Given the description of an element on the screen output the (x, y) to click on. 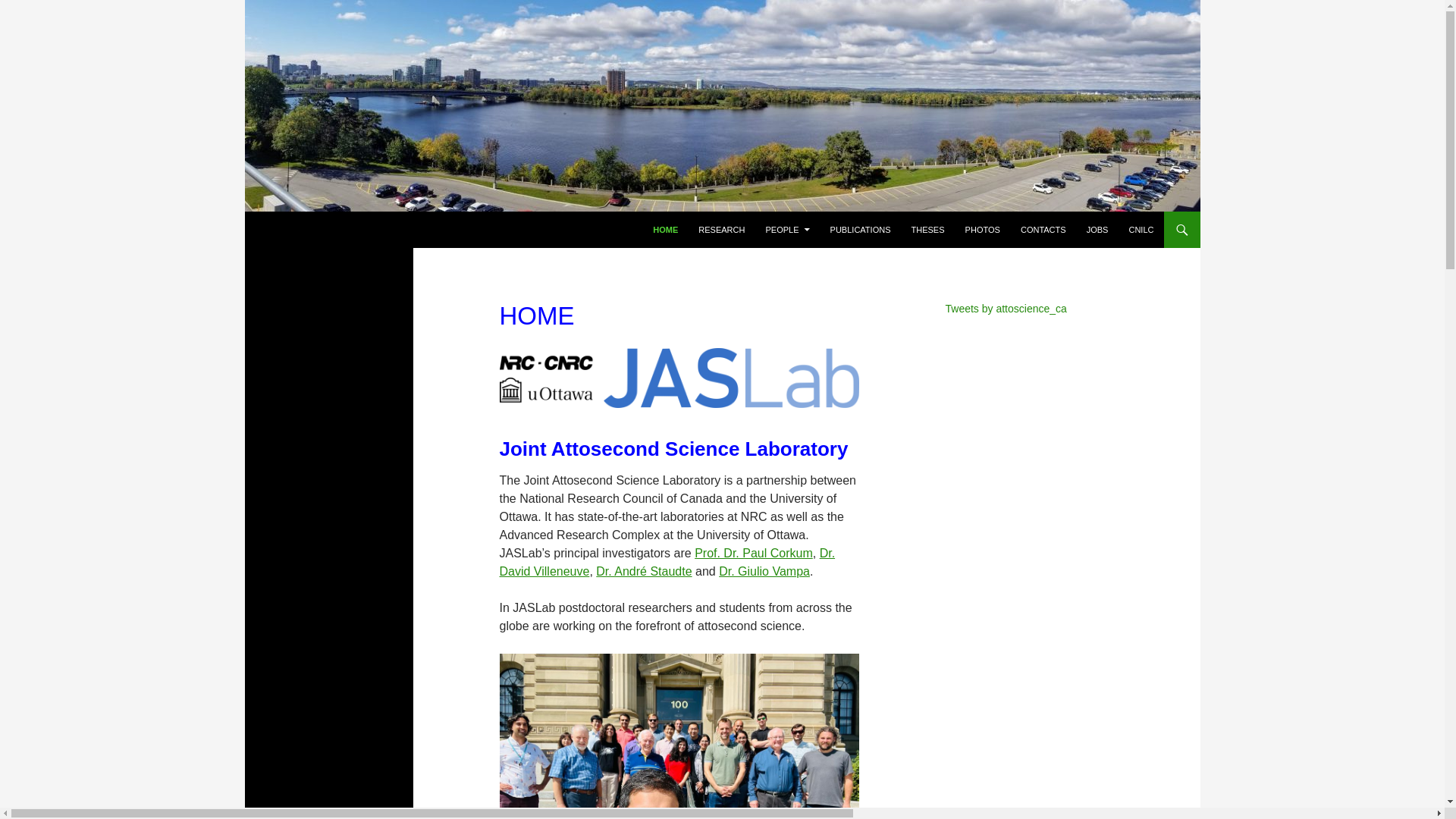
attoscience.ca (313, 229)
Prof. Dr. Paul Corkum (753, 553)
Dr. Giulio Vampa (764, 571)
PEOPLE (787, 229)
CONTACTS (1043, 229)
Dr. David Villeneuve (666, 562)
RESEARCH (721, 229)
HOME (665, 229)
